Given the description of an element on the screen output the (x, y) to click on. 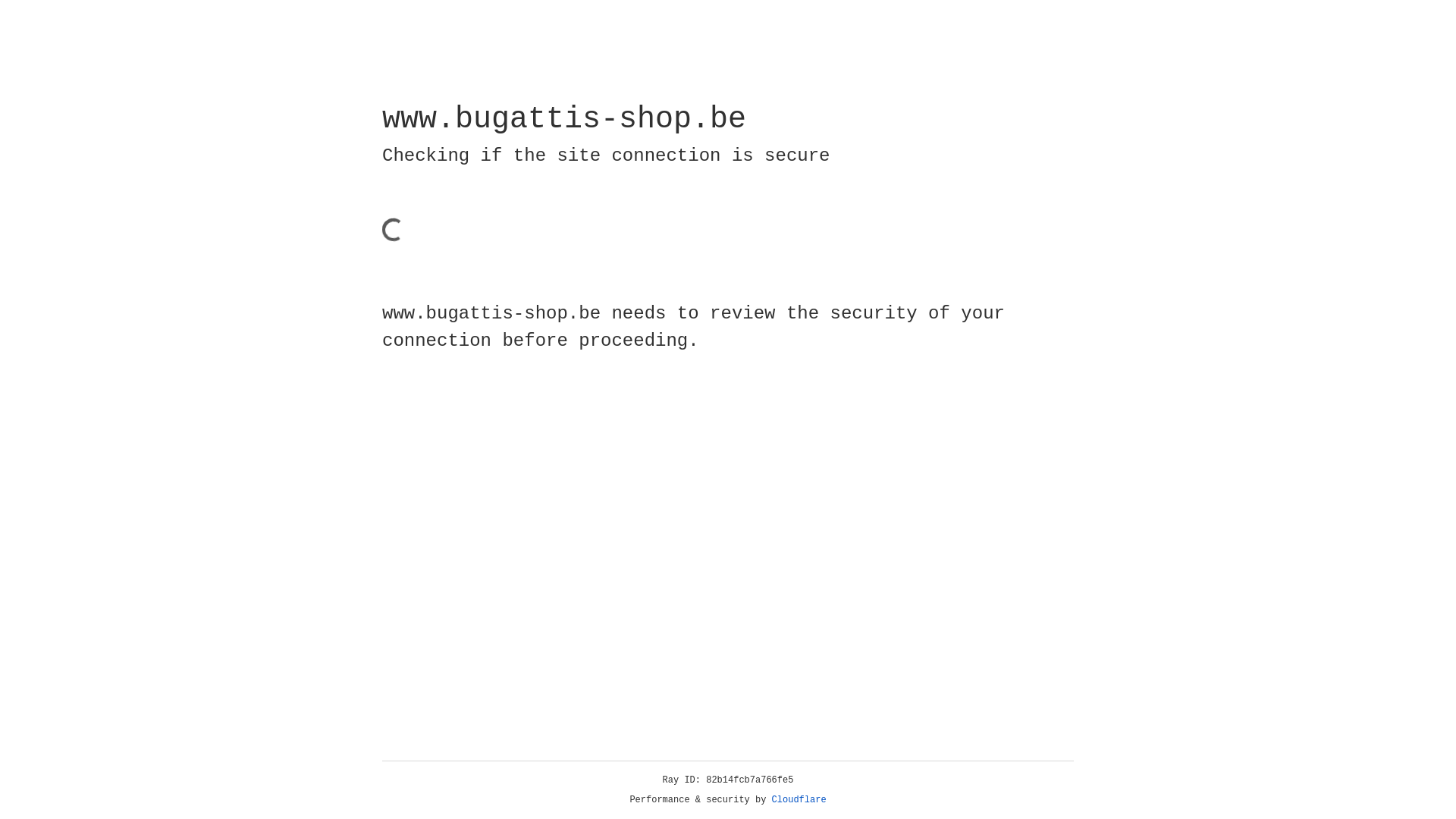
Cloudflare Element type: text (798, 799)
